Given the description of an element on the screen output the (x, y) to click on. 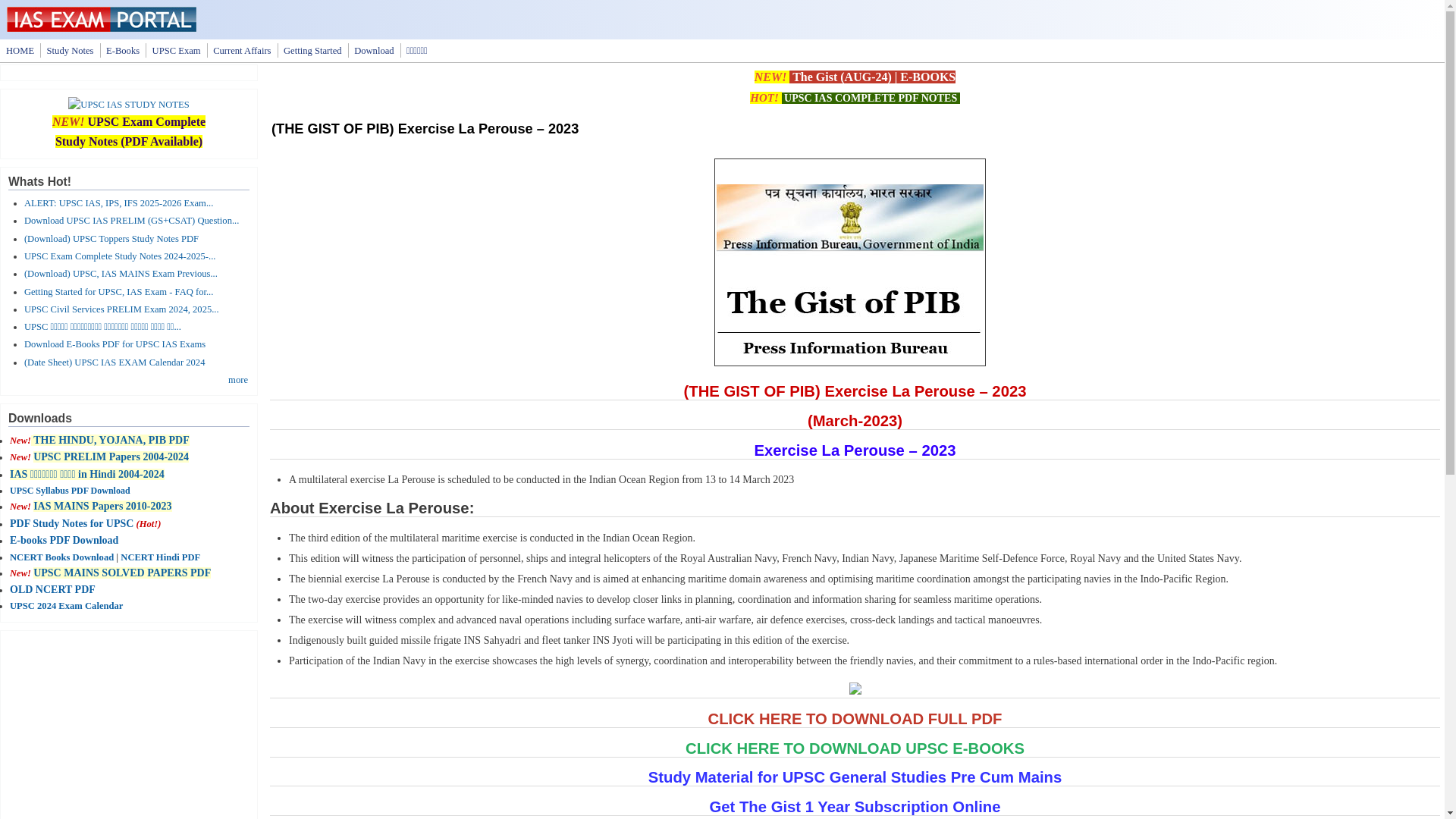
Home (101, 28)
UPSC Exam (176, 50)
UPSC Civil Services PRELIM Exam 2024, 2025... (121, 308)
Current Affairs (241, 50)
Get The Gist 1 Year Subscription Online (855, 806)
Download (373, 50)
Getting Started (313, 50)
UPSC IAS EXAM (176, 50)
Study Material for UPSC General Studies Pre Cum Mains (854, 777)
